Given the description of an element on the screen output the (x, y) to click on. 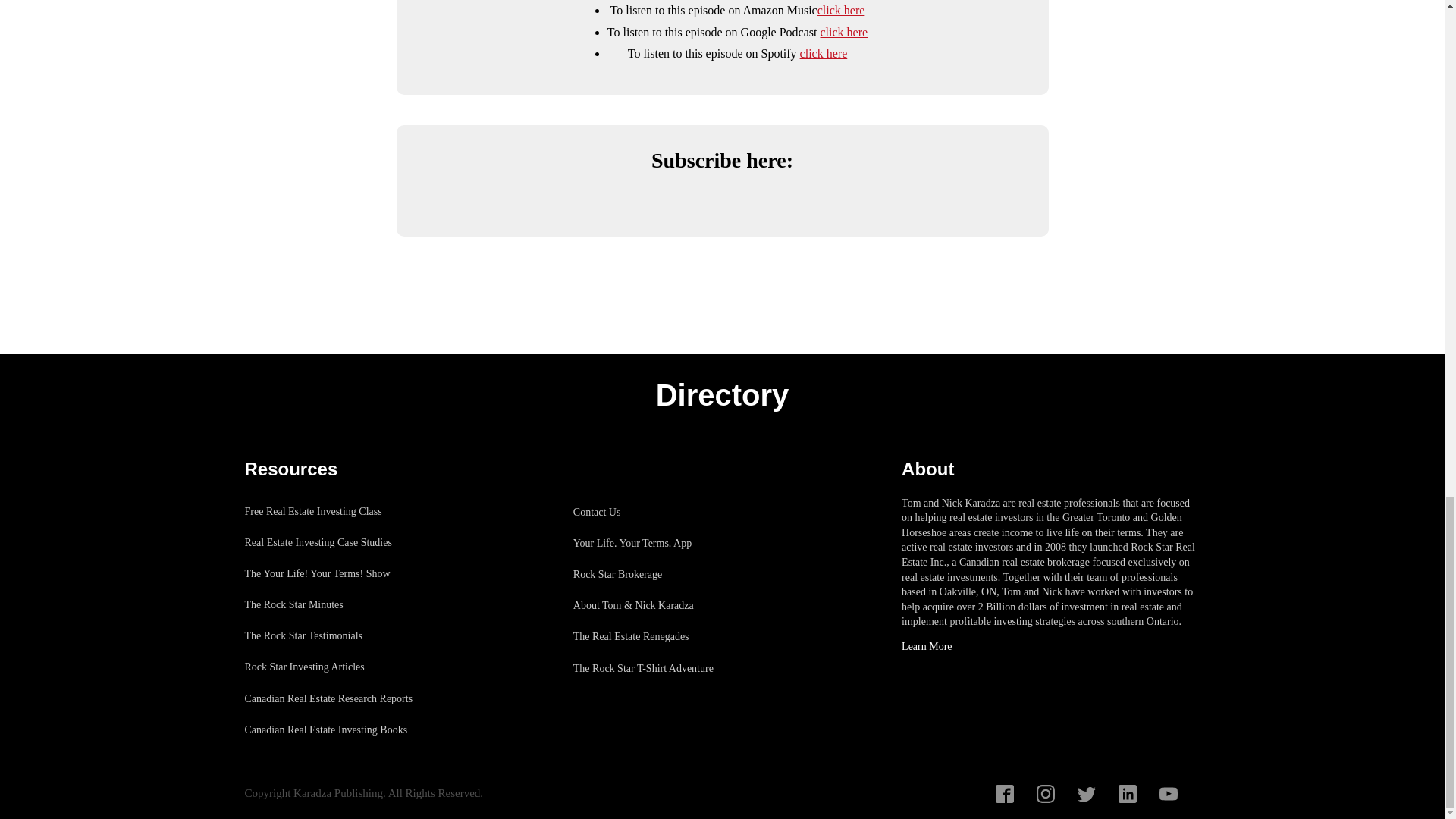
The Rock Star Testimonials (336, 635)
click here (823, 52)
click here (844, 31)
click here (840, 10)
Contact Us (651, 511)
Real Estate Investing Case Studies (336, 542)
The Rock Star Minutes (336, 603)
Free Real Estate Investing Class (336, 511)
Your Life. Your Terms. App (651, 542)
Canadian Real Estate Research Reports (336, 698)
The Your Life! Your Terms! Show (336, 572)
Canadian Real Estate Investing Books (336, 729)
Rock Star Brokerage (651, 573)
Rock Star Investing Articles (336, 666)
